Given the description of an element on the screen output the (x, y) to click on. 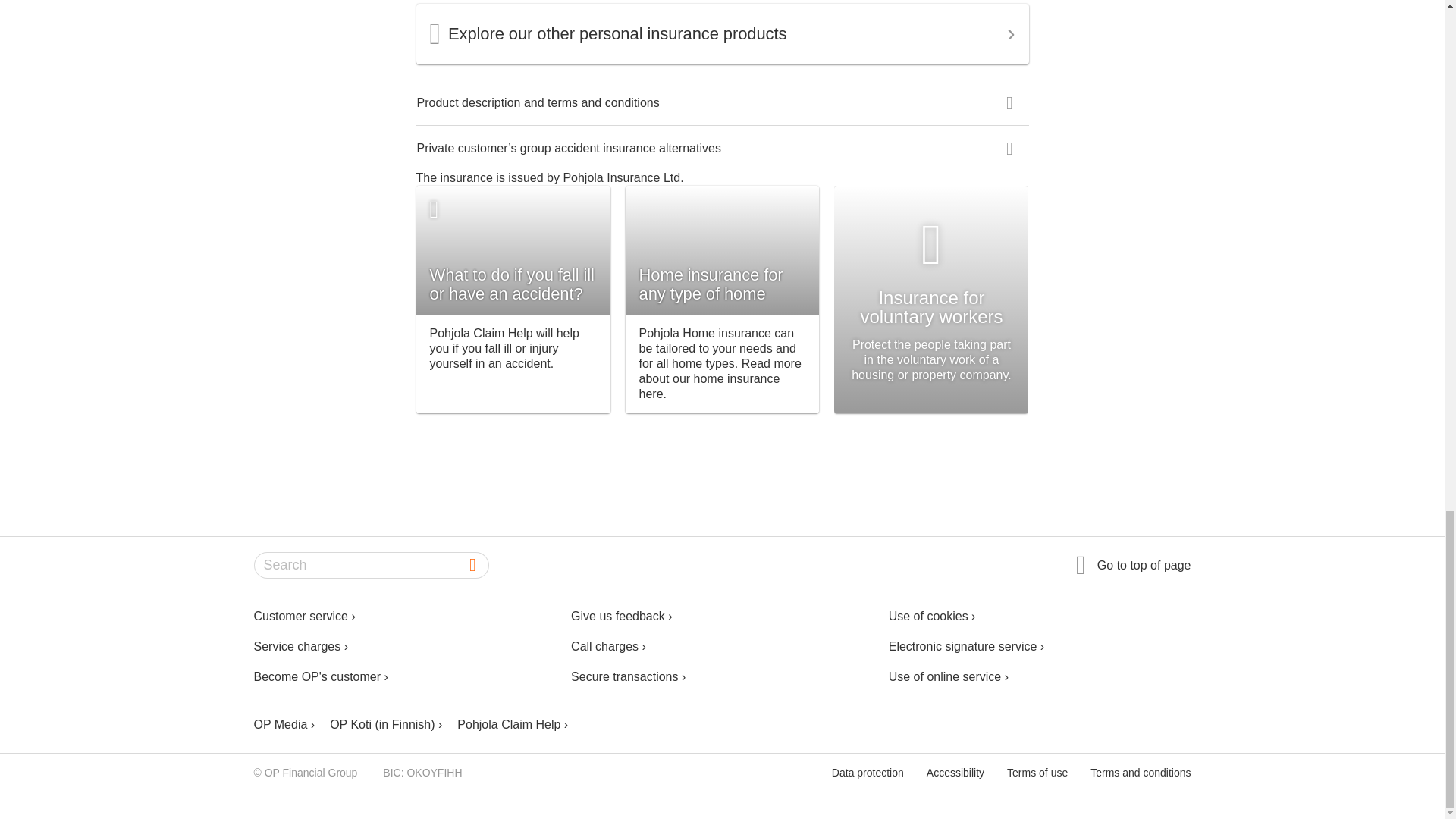
Facebook (1064, 724)
facebook (1064, 724)
Service charges (404, 646)
Product description and terms and conditions (537, 102)
Go to top of page (1133, 565)
Secure transactions (721, 676)
OP Media (283, 724)
Customer service (404, 616)
Give us feedback (721, 616)
Become OP's customer (404, 676)
Use of cookies (1039, 616)
Twitter (1102, 724)
Explore our other personal insurance products (721, 33)
LinkedIn (1139, 724)
Call charges (721, 646)
